Given the description of an element on the screen output the (x, y) to click on. 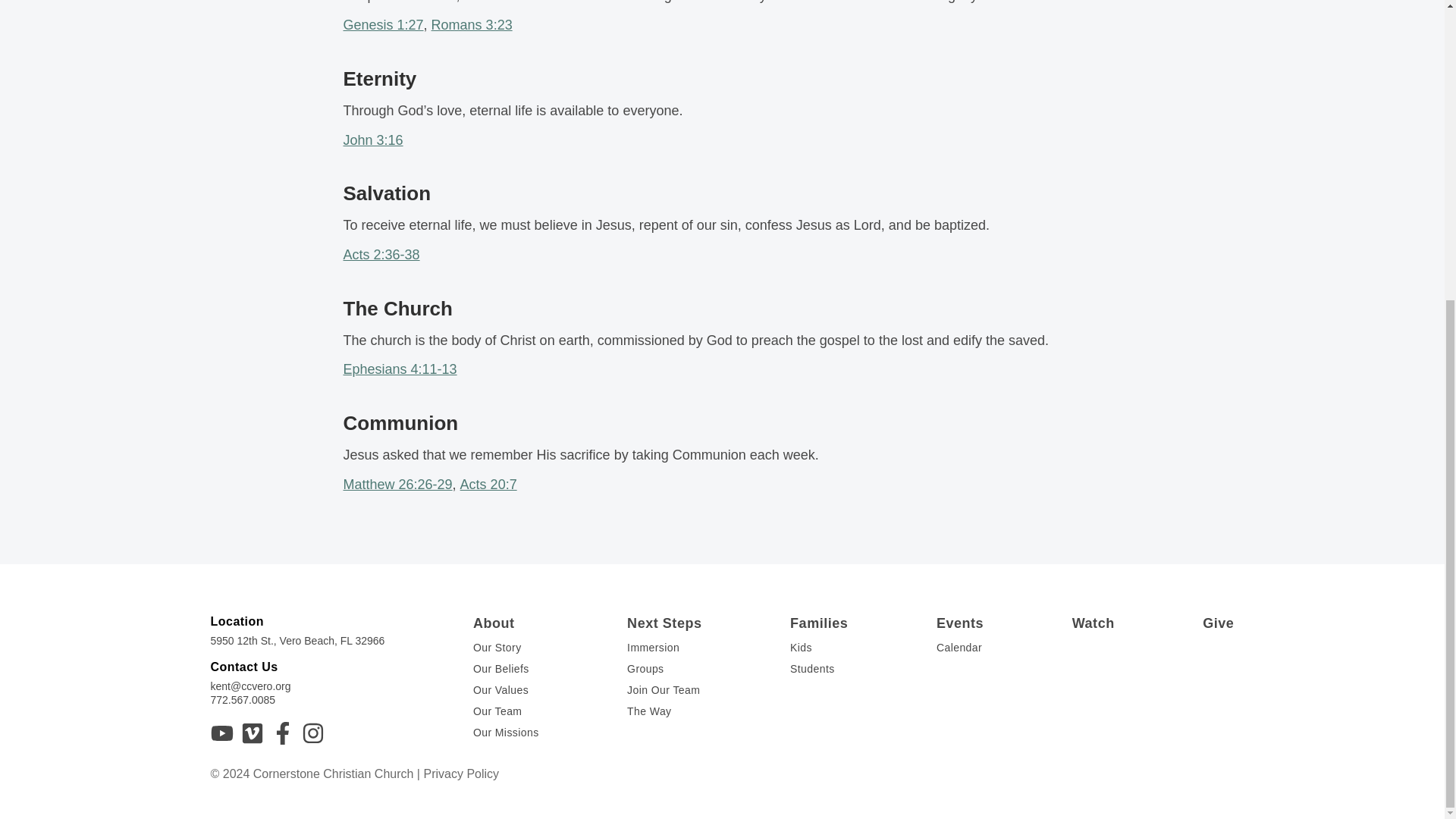
Genesis 1:27 (382, 24)
Romans 3:23 (471, 24)
